Given the description of an element on the screen output the (x, y) to click on. 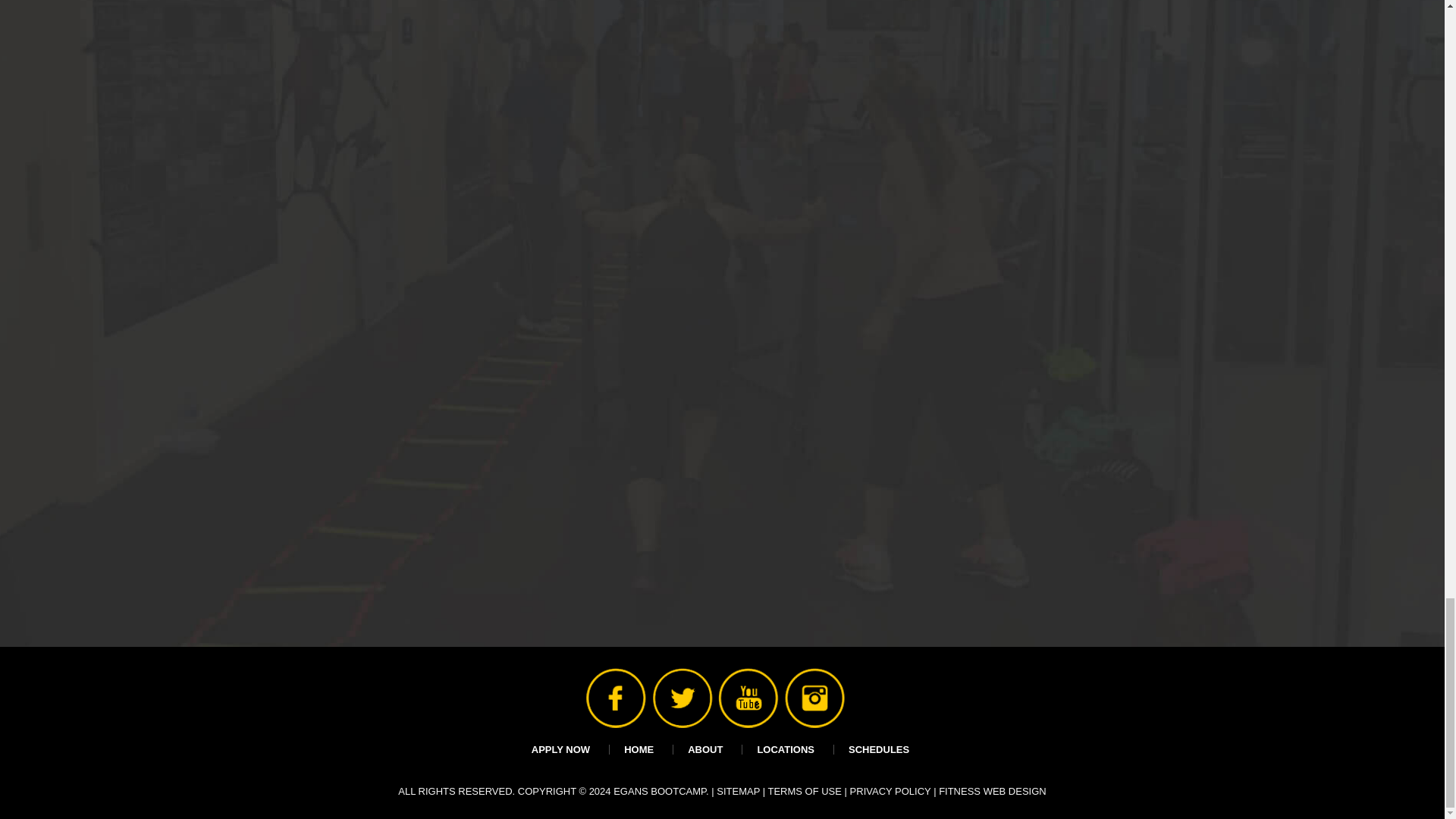
FITNESS WEB DESIGN (992, 790)
youtube (733, 684)
LOCATIONS (785, 749)
PRIVACY POLICY (890, 790)
Instagram (799, 684)
EGANS BOOTCAMP (659, 790)
SCHEDULES (879, 749)
facebook (601, 684)
SITEMAP (738, 790)
TERMS OF USE (804, 790)
Learn More (1083, 486)
APPLY NOW (560, 749)
ABOUT (704, 749)
twitter (668, 684)
HOME (638, 749)
